Given the description of an element on the screen output the (x, y) to click on. 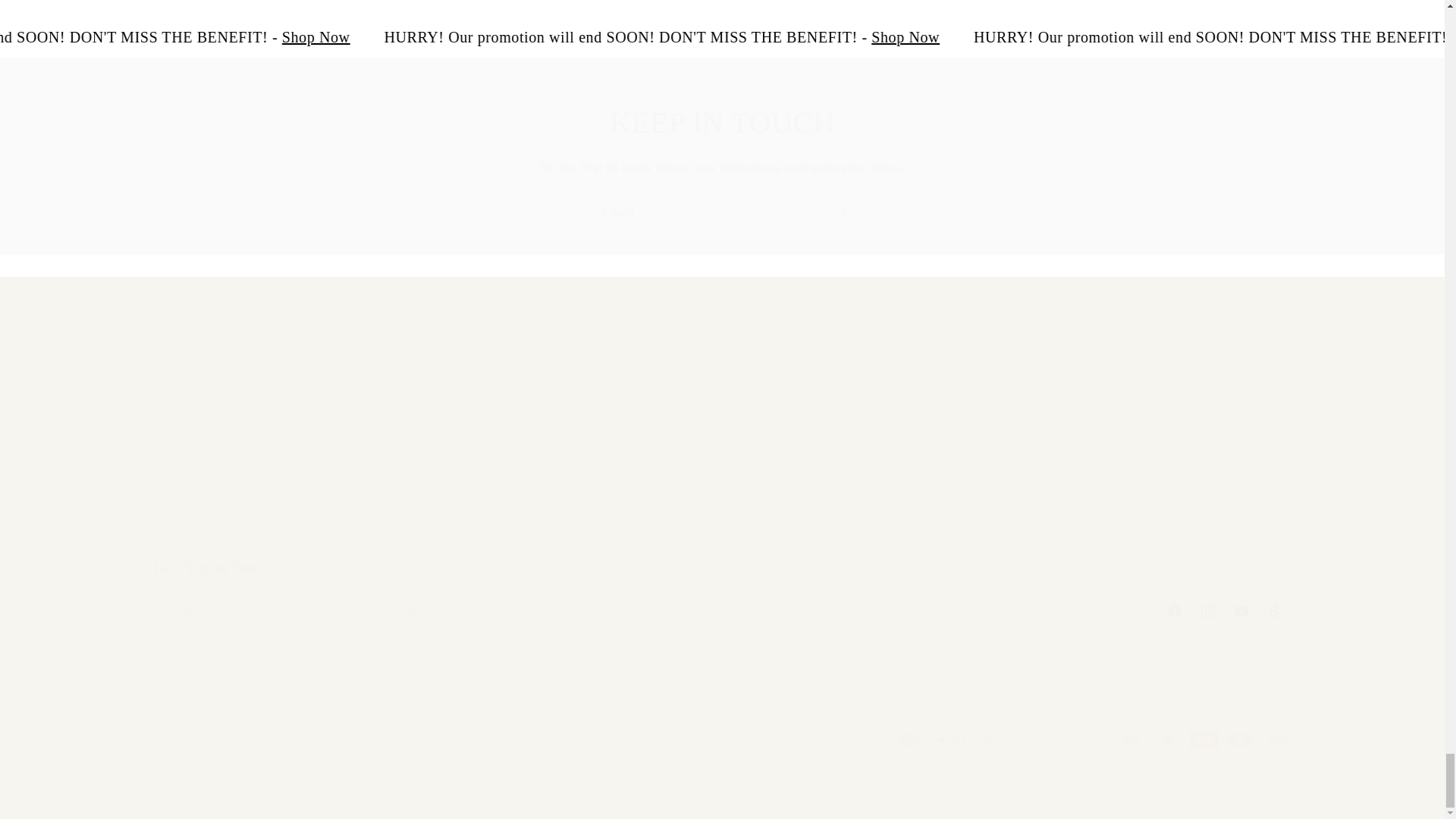
KEEP IN TOUCH (721, 122)
On Sale (1073, 36)
On Sale (721, 593)
Email (1103, 443)
